Given the description of an element on the screen output the (x, y) to click on. 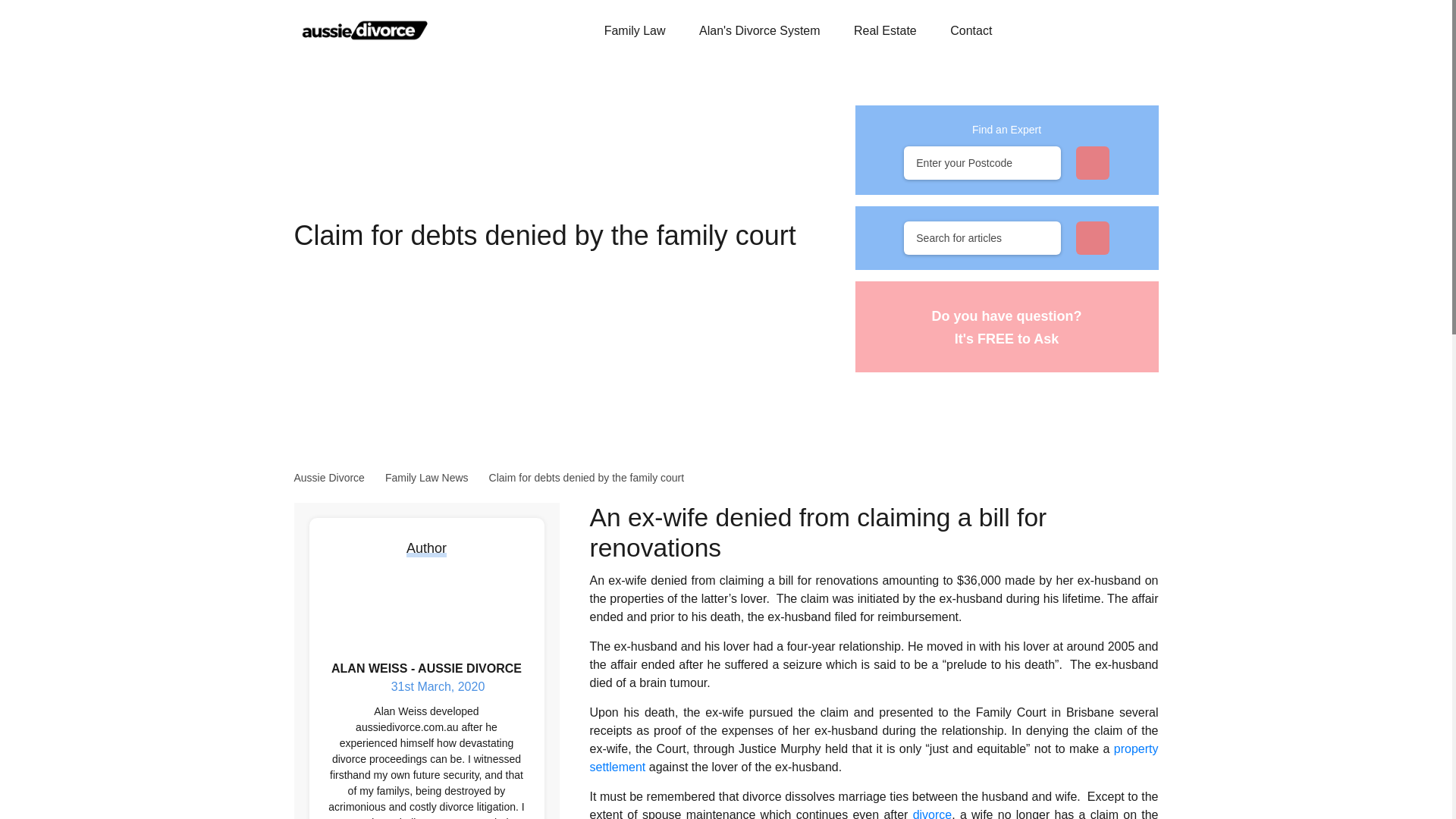
Aussie Divorce (366, 29)
Contact (970, 30)
Alan's Divorce System (759, 30)
Real Estate (885, 30)
Family Law (634, 30)
